Given the description of an element on the screen output the (x, y) to click on. 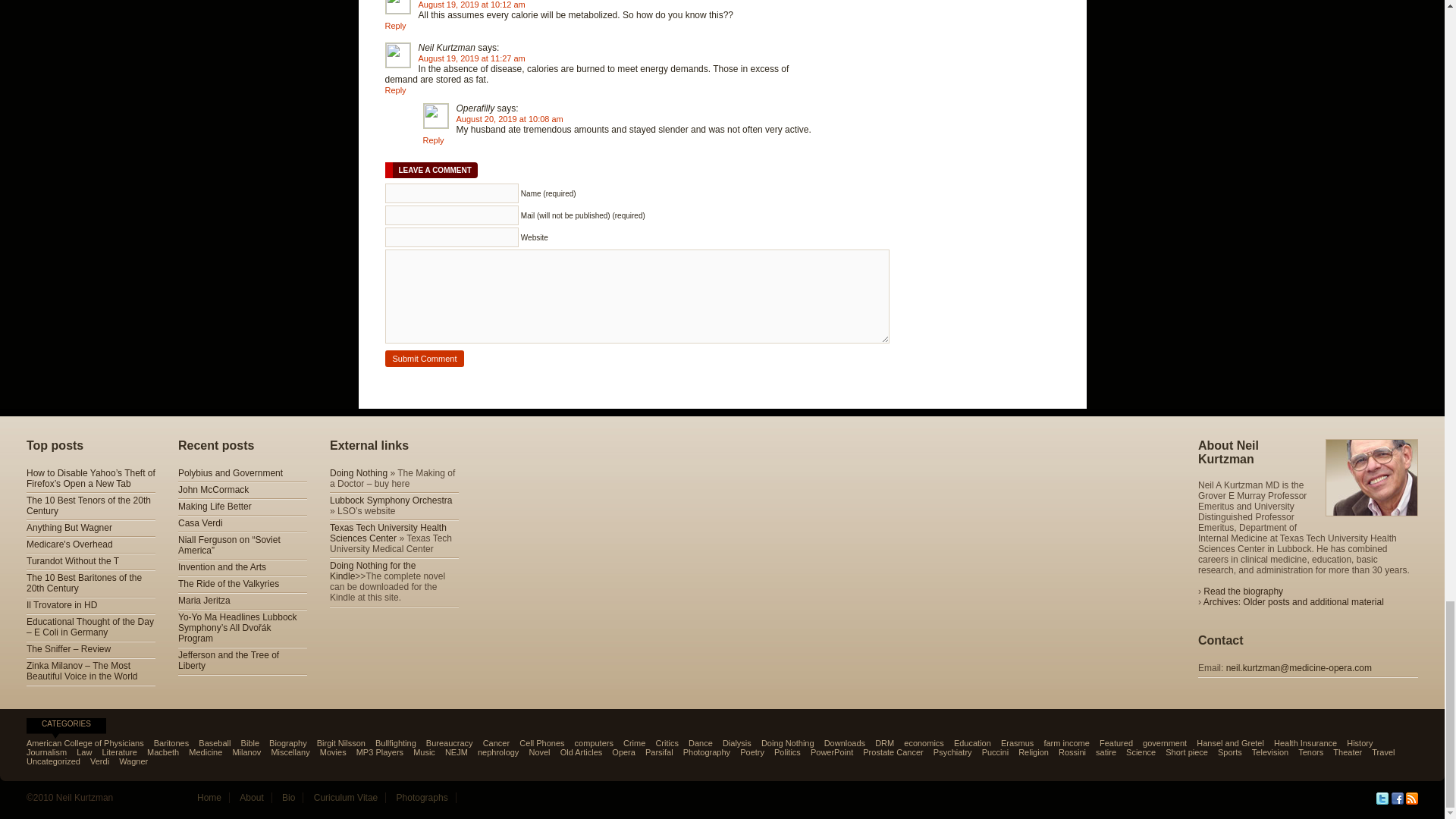
Permalink to The Ride of the Valkyries (228, 583)
Permalink to John McCormack (212, 489)
August 19, 2019 at 10:12 am (472, 4)
Submit Comment (424, 358)
Permalink to Jefferson and the Tree of Liberty (228, 660)
Reply (395, 90)
Permalink to Invention and the Arts (221, 566)
Permalink to Casa Verdi (199, 522)
Reply (395, 25)
Reply (433, 139)
August 19, 2019 at 11:27 am (472, 58)
Permalink to Polybius and Government (229, 472)
Submit Comment (424, 358)
Permalink to Maria Jeritza (203, 600)
August 20, 2019 at 10:08 am (510, 118)
